Given the description of an element on the screen output the (x, y) to click on. 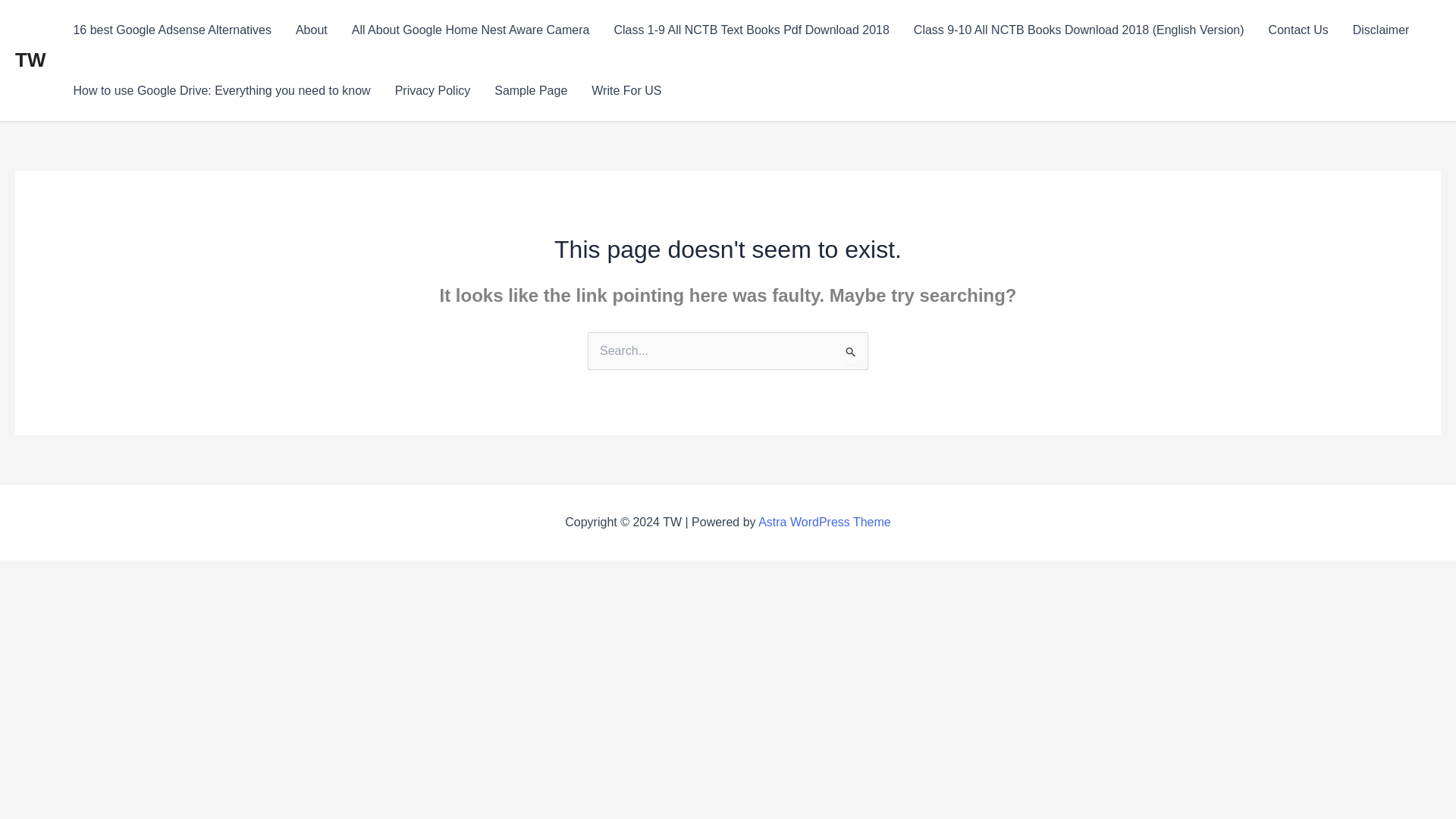
TW (29, 59)
16 best Google Adsense Alternatives (172, 30)
All About Google Home Nest Aware Camera (470, 30)
How to use Google Drive: Everything you need to know (221, 90)
Sample Page (530, 90)
Class 1-9 All NCTB Text Books Pdf Download 2018 (751, 30)
Privacy Policy (432, 90)
Contact Us (1298, 30)
Write For US (625, 90)
Disclaimer (1381, 30)
